Given the description of an element on the screen output the (x, y) to click on. 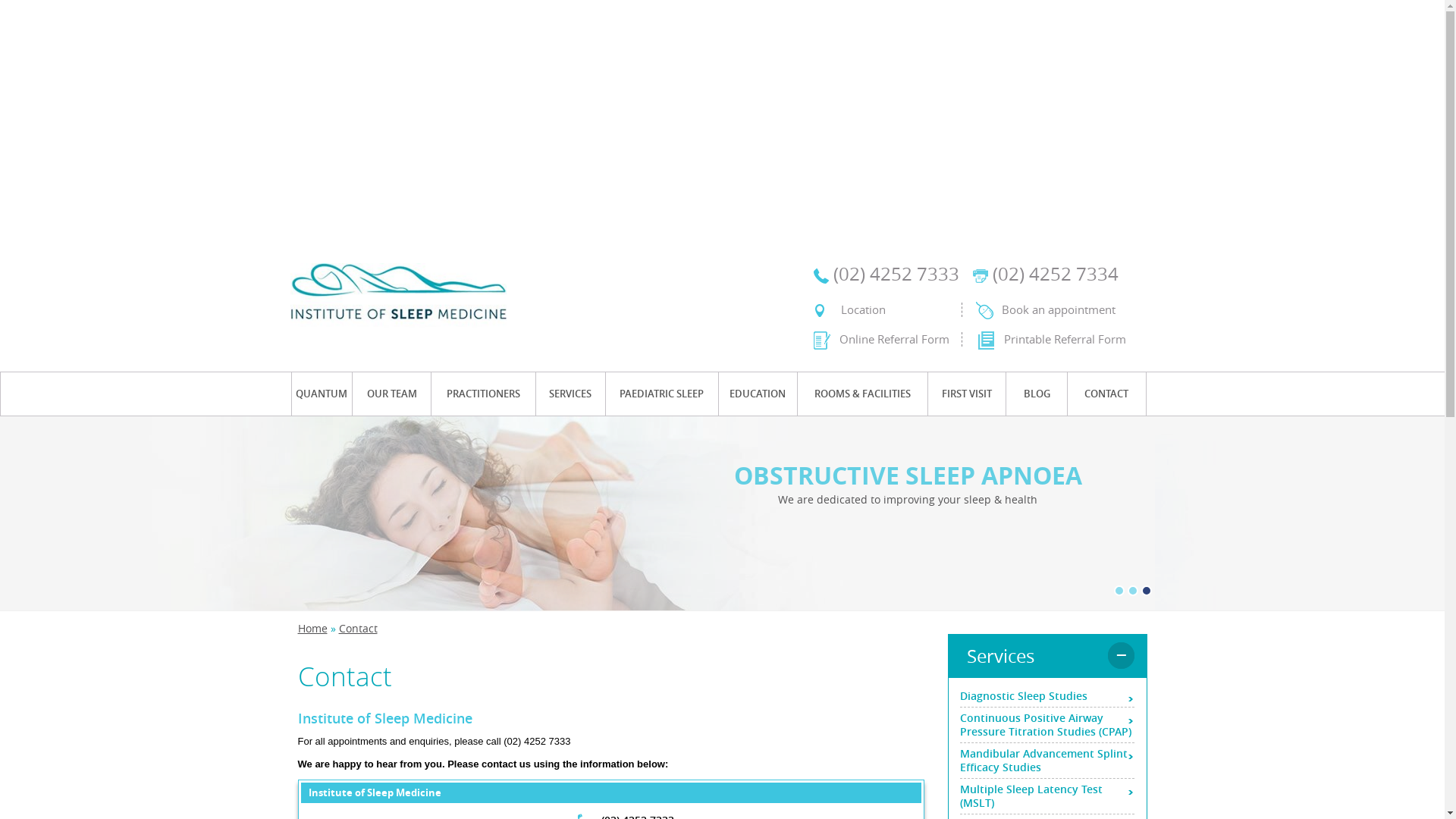
BLOG Element type: text (1036, 393)
Location Element type: text (848, 308)
Diagnostic Sleep Studies Element type: text (1047, 695)
QUANTUM Element type: text (321, 393)
OUR TEAM Element type: text (391, 393)
Services Element type: text (1046, 655)
PAEDIATRIC SLEEP Element type: text (661, 393)
  Element type: text (1145, 590)
CONTACT Element type: text (1106, 393)
PRACTITIONERS Element type: text (483, 393)
Mandibular Advancement Splint Efficacy Studies Element type: text (1047, 760)
Book an appointment Element type: text (1044, 310)
Printable Referral Form Element type: text (1043, 340)
Home Element type: text (311, 628)
Multiple Sleep Latency Test (MSLT) Element type: text (1047, 795)
EDUCATION Element type: text (757, 393)
  Element type: text (1131, 590)
Continuous Positive Airway Pressure Titration Studies (CPAP) Element type: text (1047, 724)
FIRST VISIT Element type: text (967, 393)
OBSTRUCTIVE SLEEP APNOEA Element type: text (908, 475)
  Element type: text (1118, 590)
(02) 4252 7333 Element type: text (892, 273)
Contact Element type: text (357, 628)
SERVICES Element type: text (570, 393)
Online Referral Form Element type: text (880, 340)
Advertisement Element type: hover (721, 119)
ROOMS & FACILITIES Element type: text (862, 393)
